Given the description of an element on the screen output the (x, y) to click on. 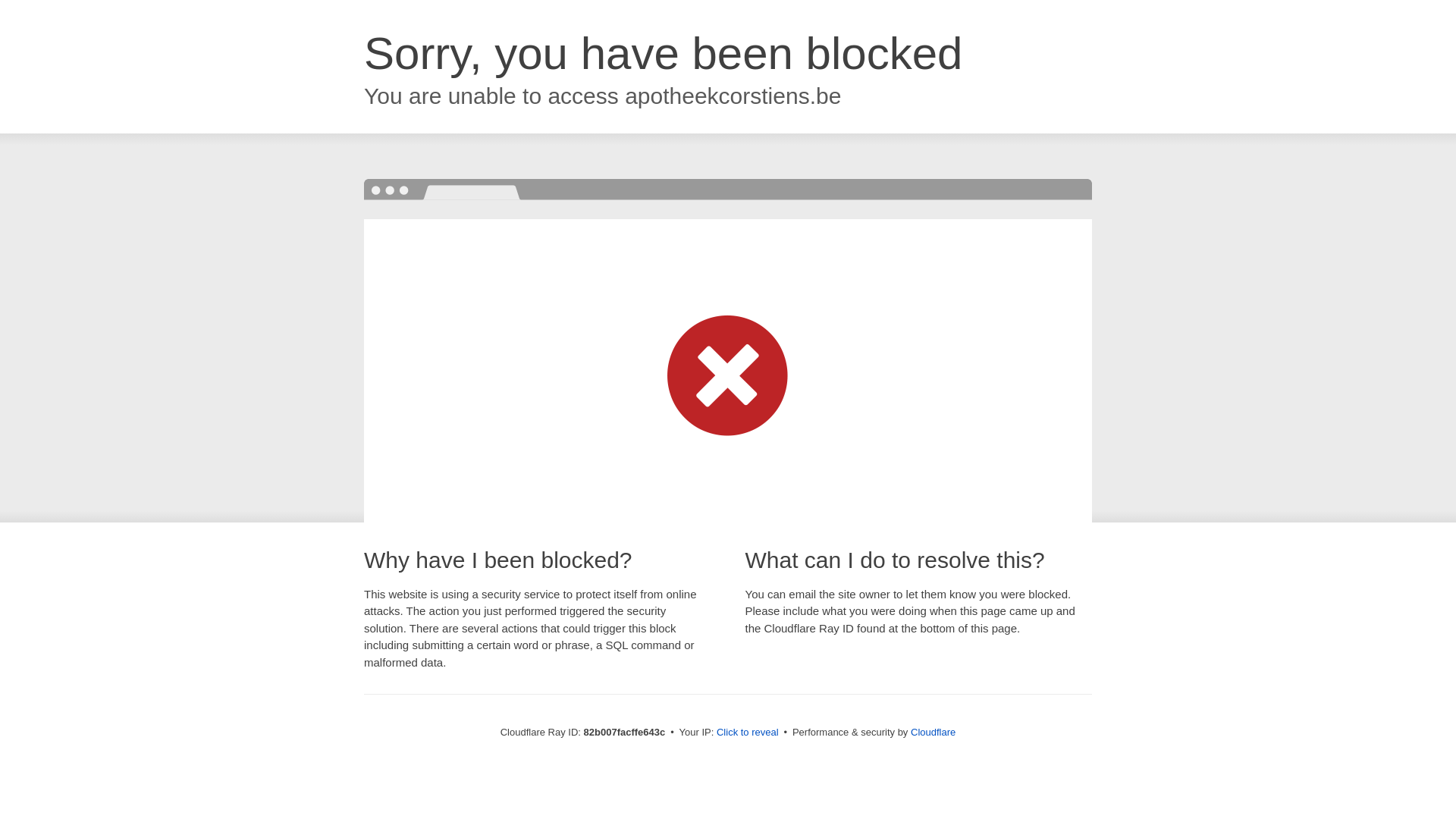
Cloudflare Element type: text (932, 731)
Click to reveal Element type: text (747, 732)
